Given the description of an element on the screen output the (x, y) to click on. 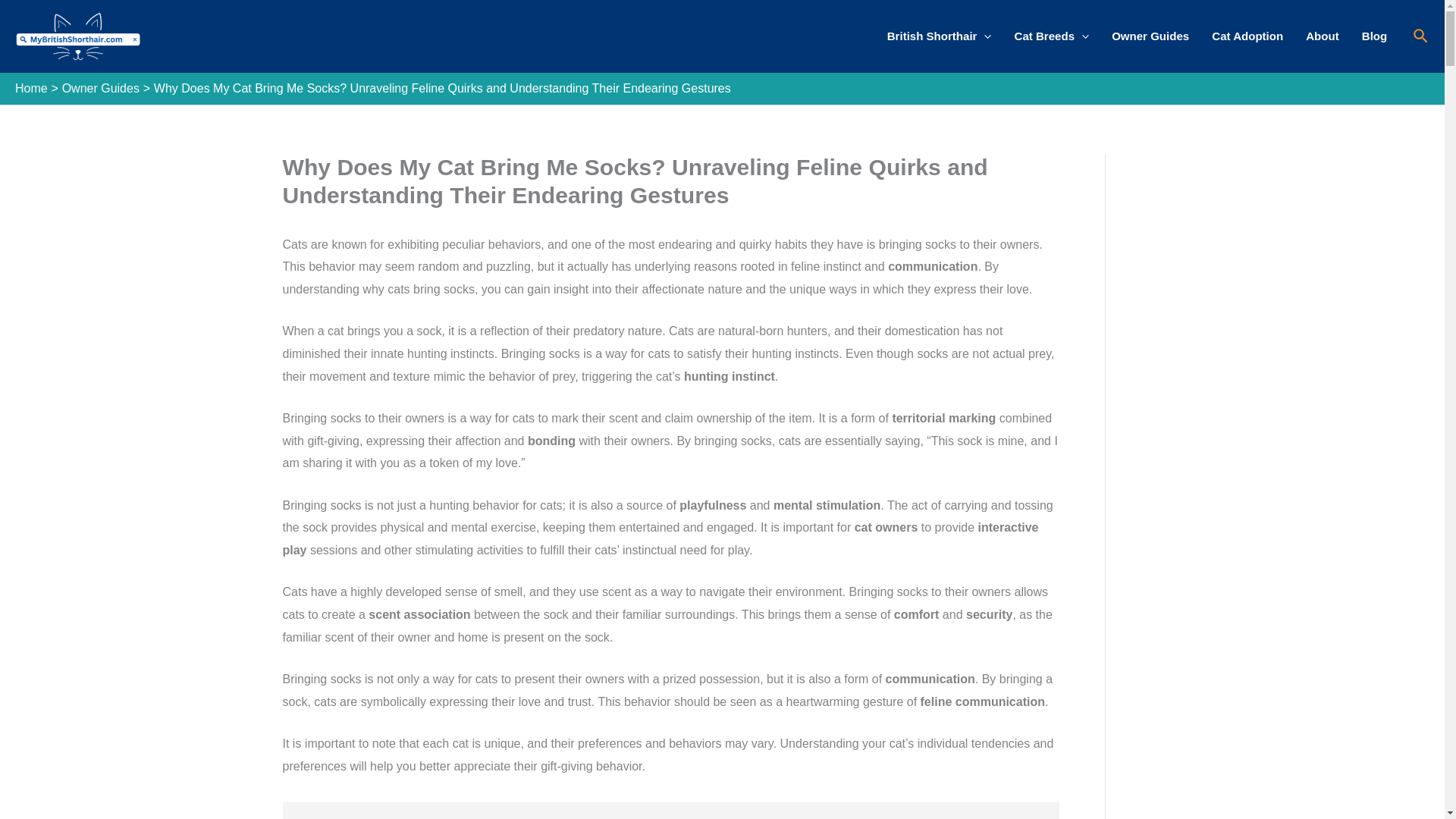
British Shorthair (939, 36)
About (1322, 36)
Blog (1375, 36)
Cat Breeds (1051, 36)
Cat Adoption (1246, 36)
Owner Guides (1149, 36)
